Given the description of an element on the screen output the (x, y) to click on. 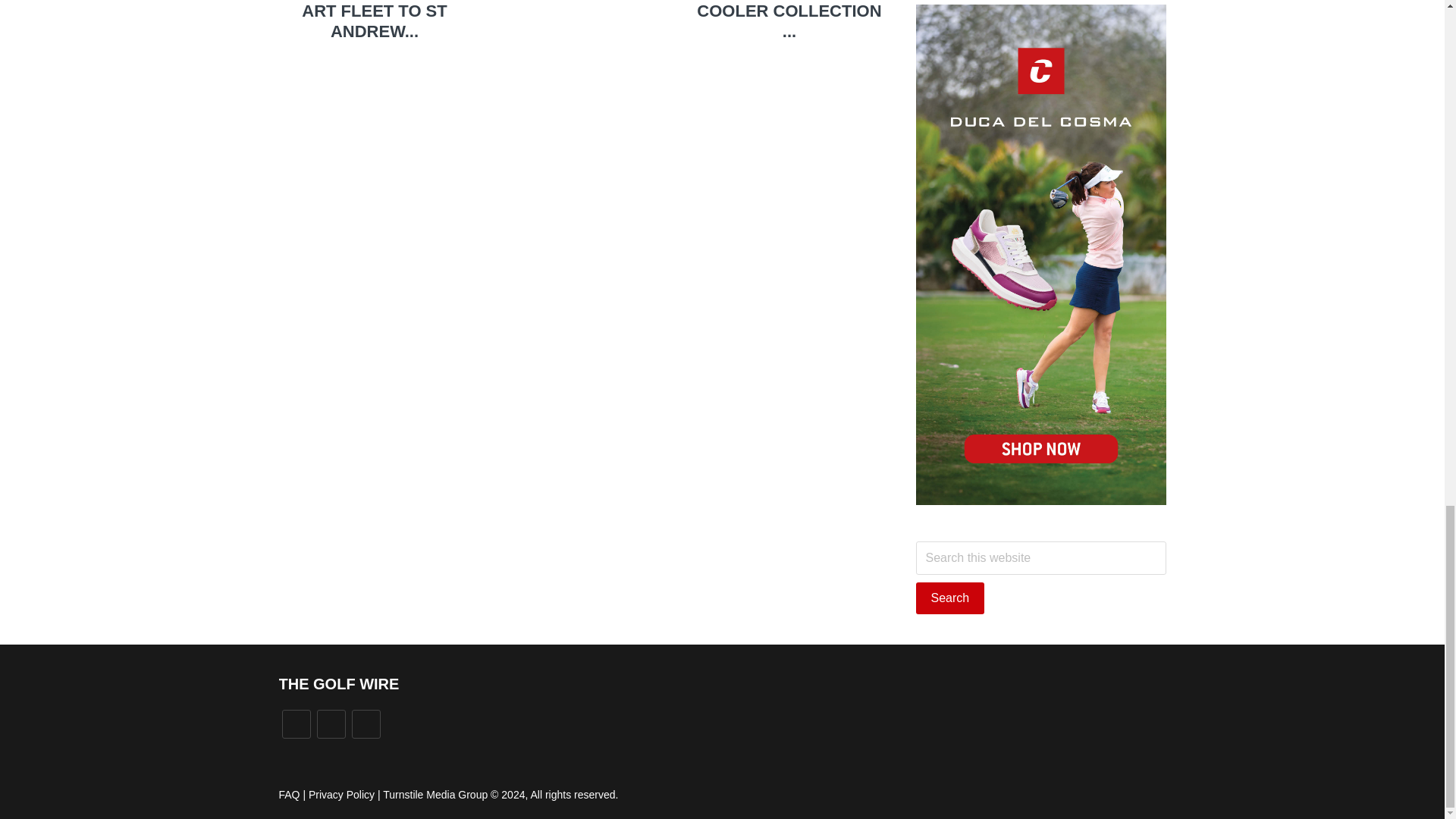
Search (950, 598)
CLUB CAR DELIVERS NEW STATE-OF-THE-ART FLEET TO ST ANDREW... (373, 20)
IGLOO RELEASES ITS FIRST GOLF-INSPIRED COOLER COLLECTION ... (788, 20)
Search (950, 598)
Search (950, 598)
